Given the description of an element on the screen output the (x, y) to click on. 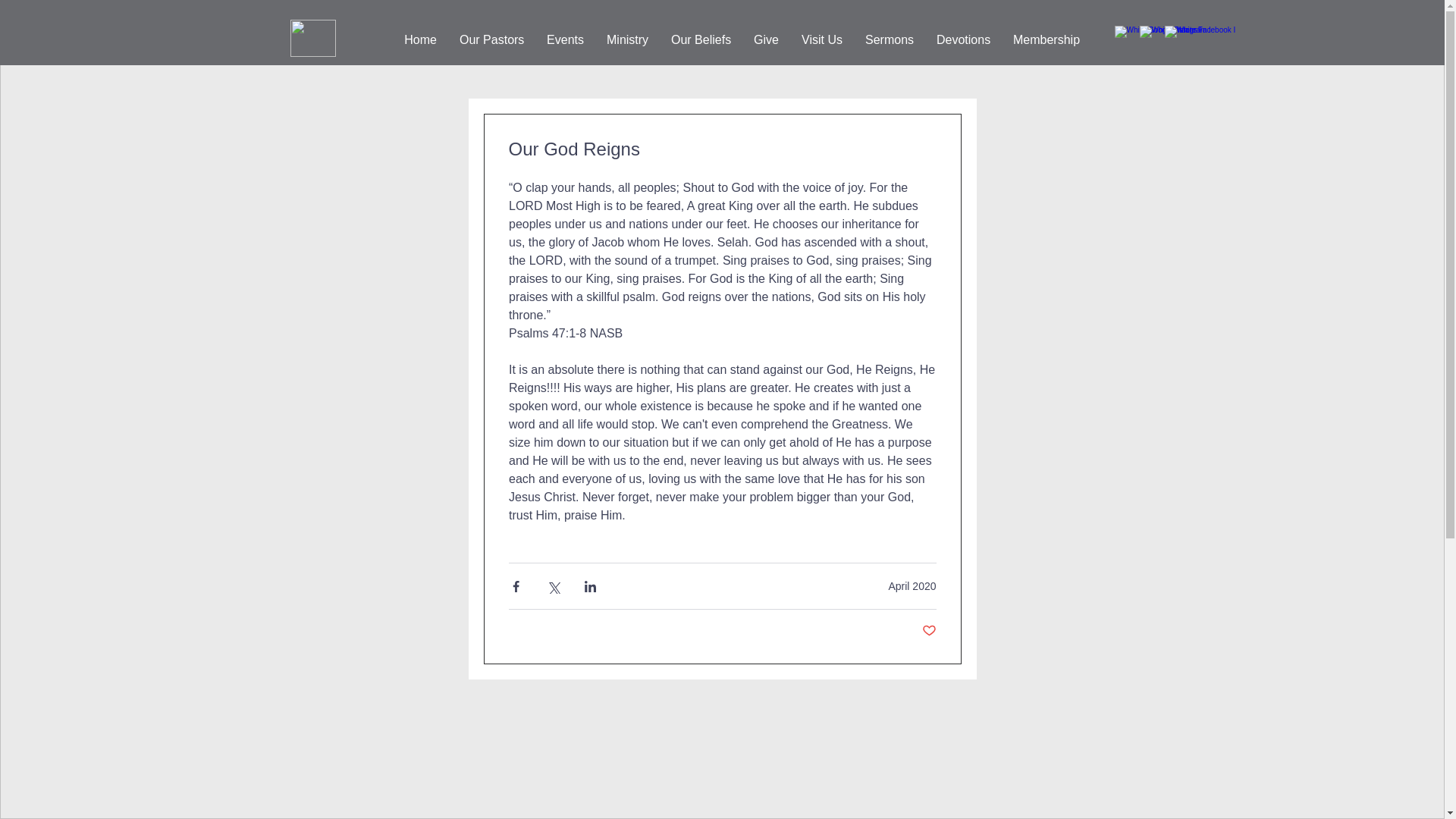
Visit Us (821, 40)
Sermons (888, 40)
Post not marked as liked (928, 631)
April 2020 (912, 585)
Devotions (962, 40)
Membership (1045, 40)
Our Beliefs (700, 40)
Ministry (627, 40)
Give (766, 40)
Our Pastors (491, 40)
